Given the description of an element on the screen output the (x, y) to click on. 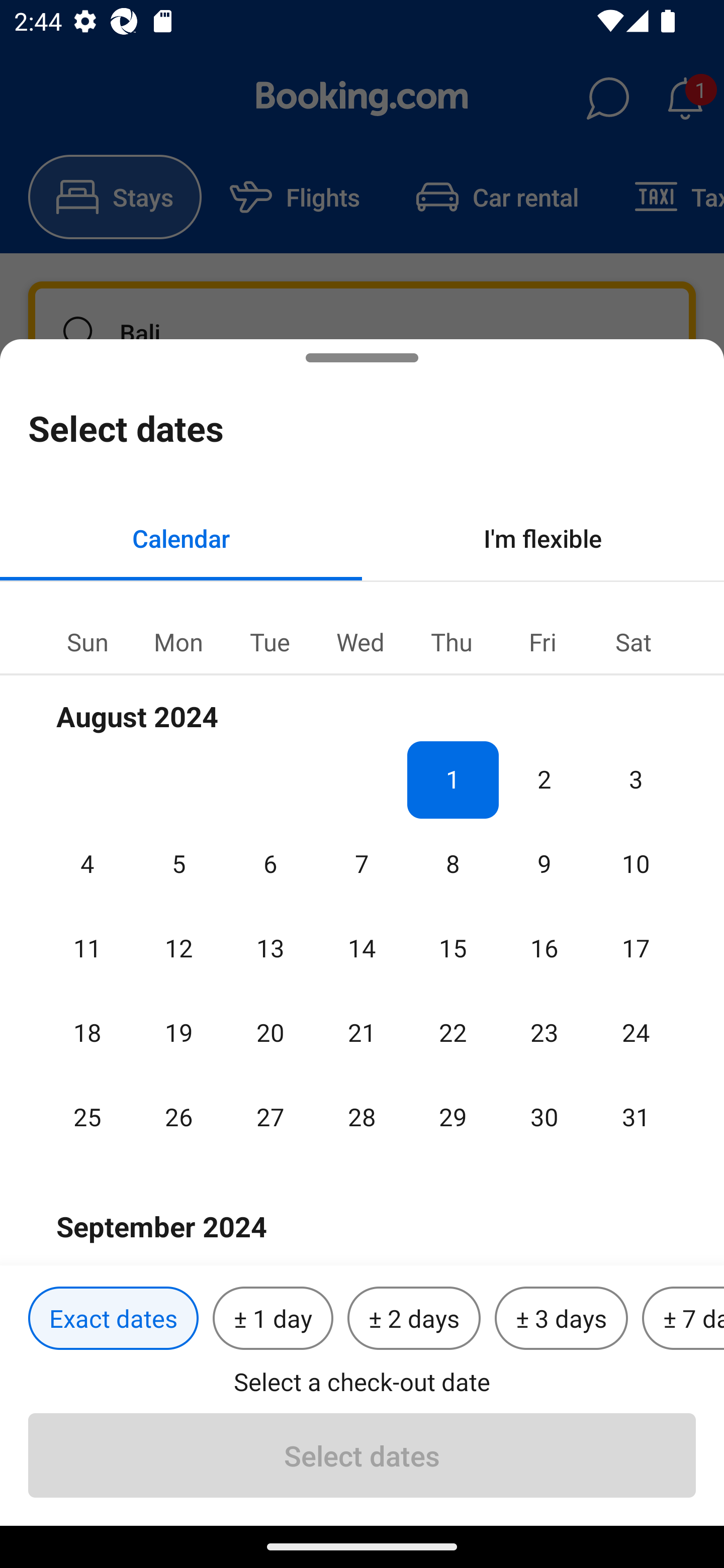
I'm flexible (543, 537)
Exact dates (113, 1318)
± 1 day (272, 1318)
± 2 days (413, 1318)
± 3 days (560, 1318)
± 7 days (683, 1318)
Select dates (361, 1454)
